Given the description of an element on the screen output the (x, y) to click on. 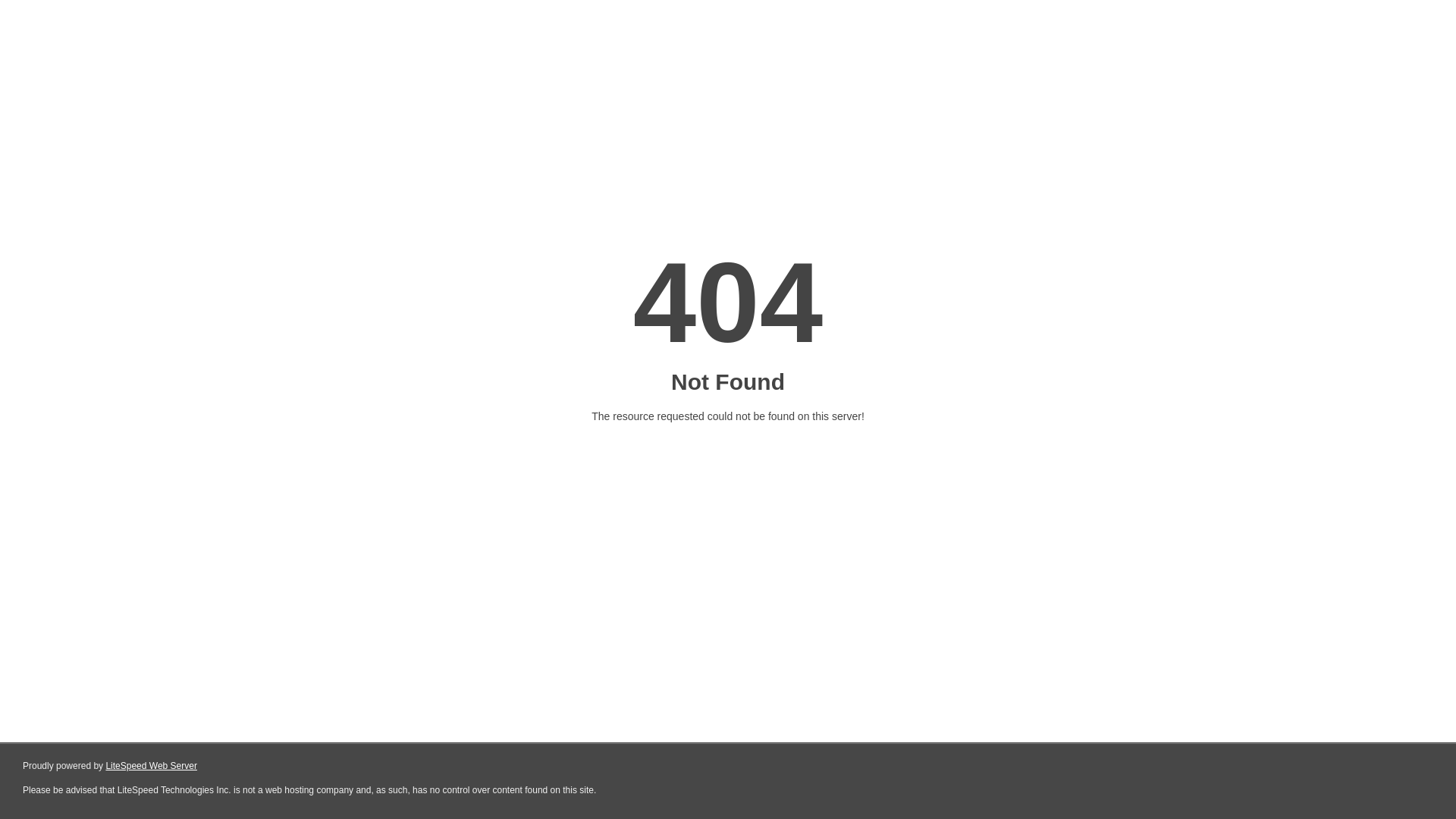
LiteSpeed Web Server Element type: text (151, 765)
